Given the description of an element on the screen output the (x, y) to click on. 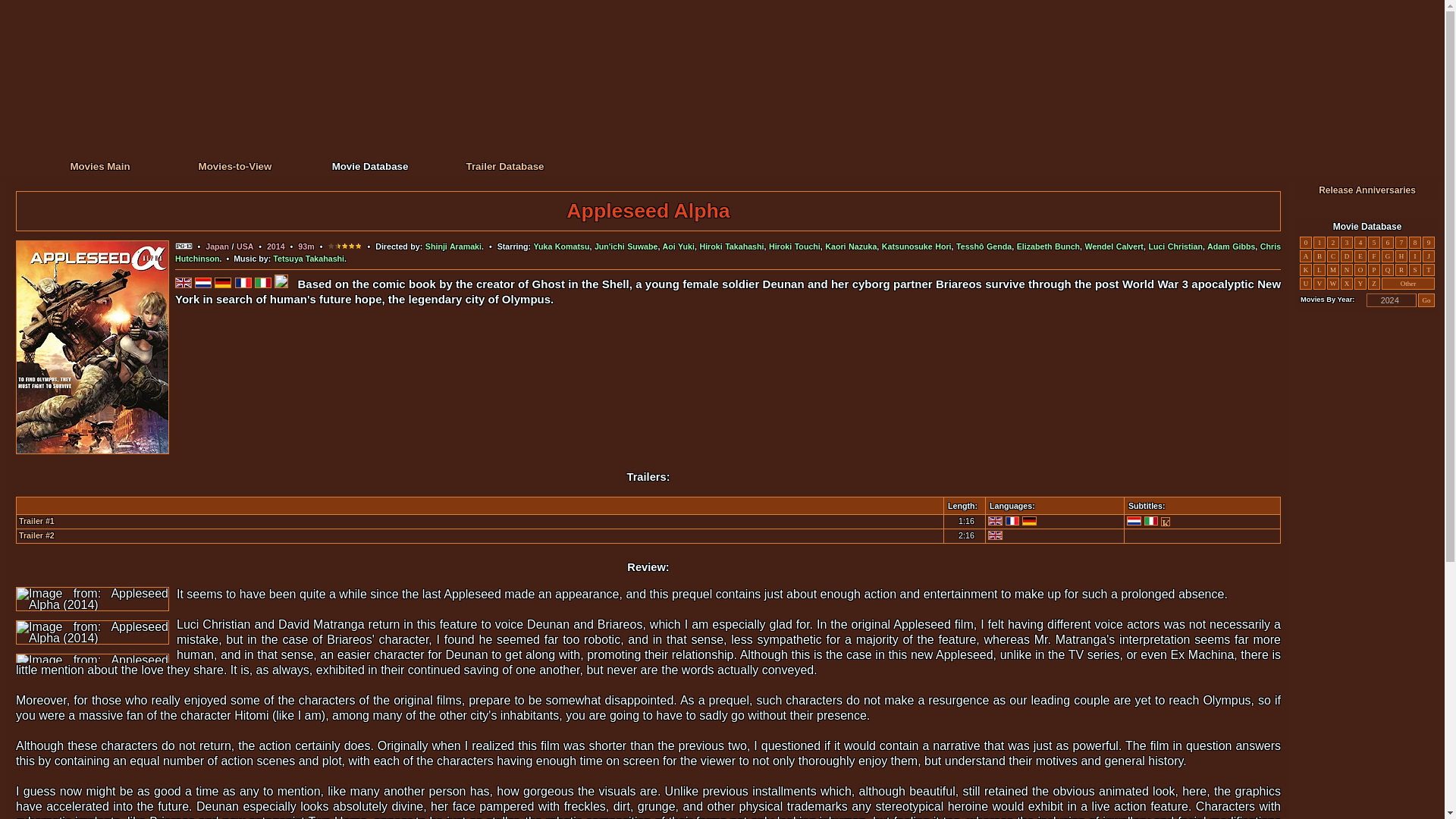
Italian (1151, 520)
German (1029, 520)
Korean (1165, 521)
French (1013, 520)
English (995, 520)
English (995, 534)
Release Anniversaries (1367, 190)
Movies Main (99, 165)
Dutch (1133, 520)
Trailer Database (504, 165)
